Given the description of an element on the screen output the (x, y) to click on. 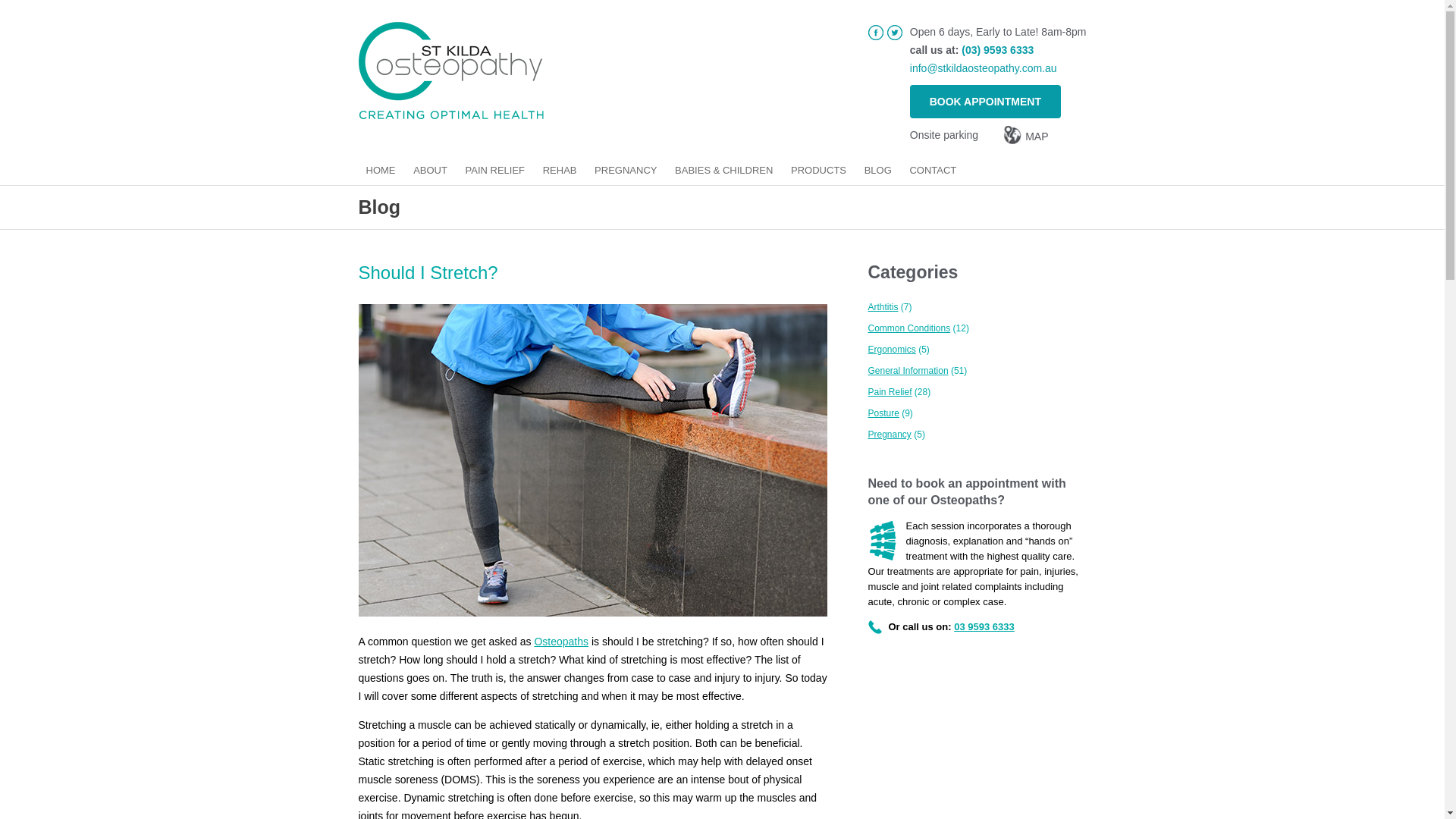
REHAB (560, 170)
Facebook (875, 32)
PAIN RELIEF (495, 170)
PREGNANCY (624, 170)
About (430, 170)
HOME (380, 170)
PRODUCTS (818, 170)
ABOUT (430, 170)
CONTACT (932, 170)
BOOK APPOINTMENT (985, 101)
